Given the description of an element on the screen output the (x, y) to click on. 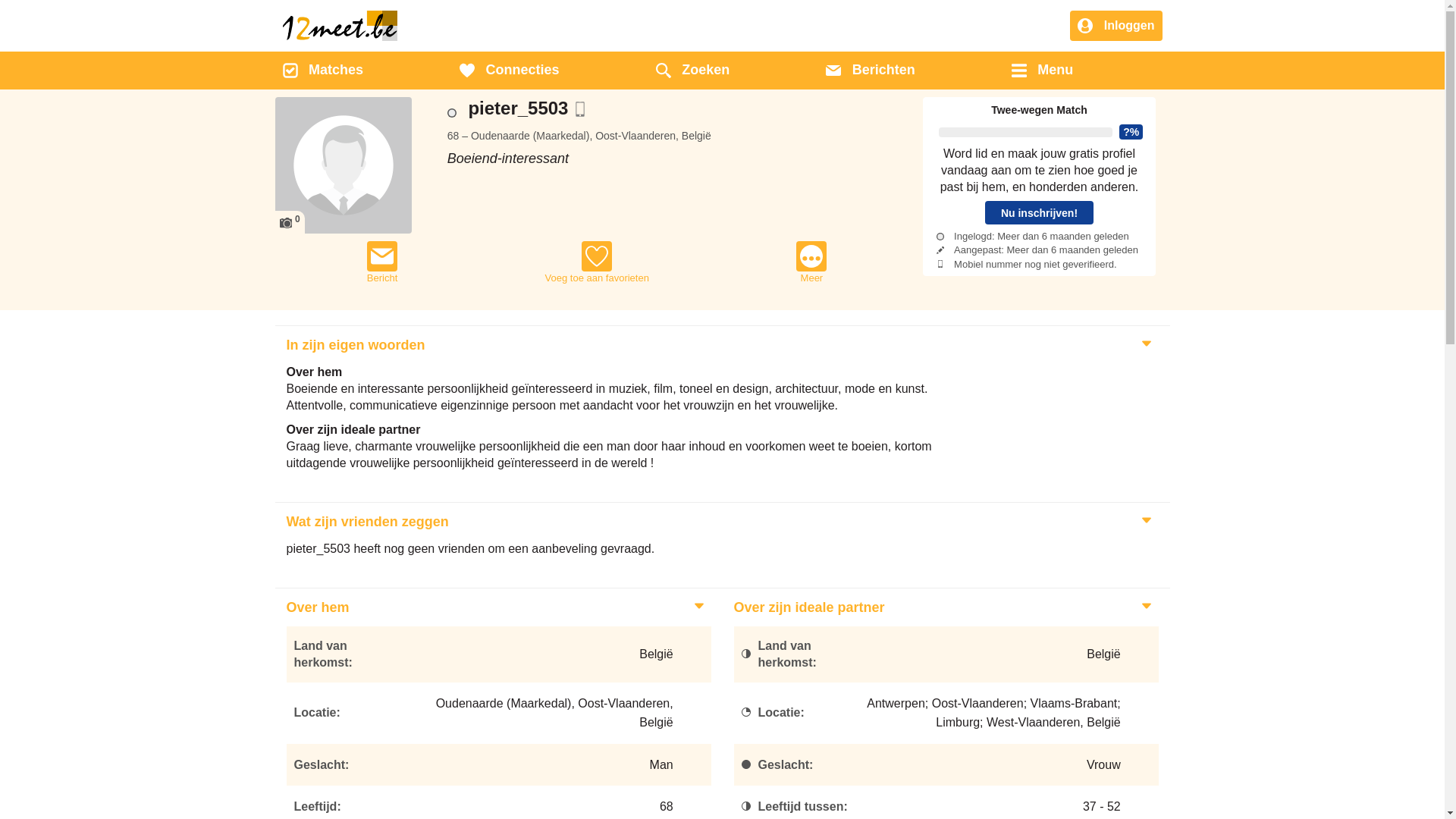
Menu Element type: text (1042, 70)
pieter_5503 heeft nog geen foto's toegevoegd  Element type: hover (342, 165)
Matches Element type: text (322, 70)
Bericht Element type: text (382, 262)
Meer Element type: text (811, 262)
Wat zijn vrienden zeggen Element type: text (364, 521)
Connecties Element type: text (508, 70)
Inloggen Element type: text (1115, 27)
Zoeken Element type: text (692, 70)
Over hem Element type: text (315, 607)
Over zijn ideale partner Element type: text (806, 607)
Nu inschrijven! Element type: text (1039, 212)
In zijn eigen woorden Element type: text (353, 345)
Berichten Element type: text (869, 70)
12meet.be Element type: text (339, 25)
Voeg toe aan favorieten Element type: text (597, 262)
